Given the description of an element on the screen output the (x, y) to click on. 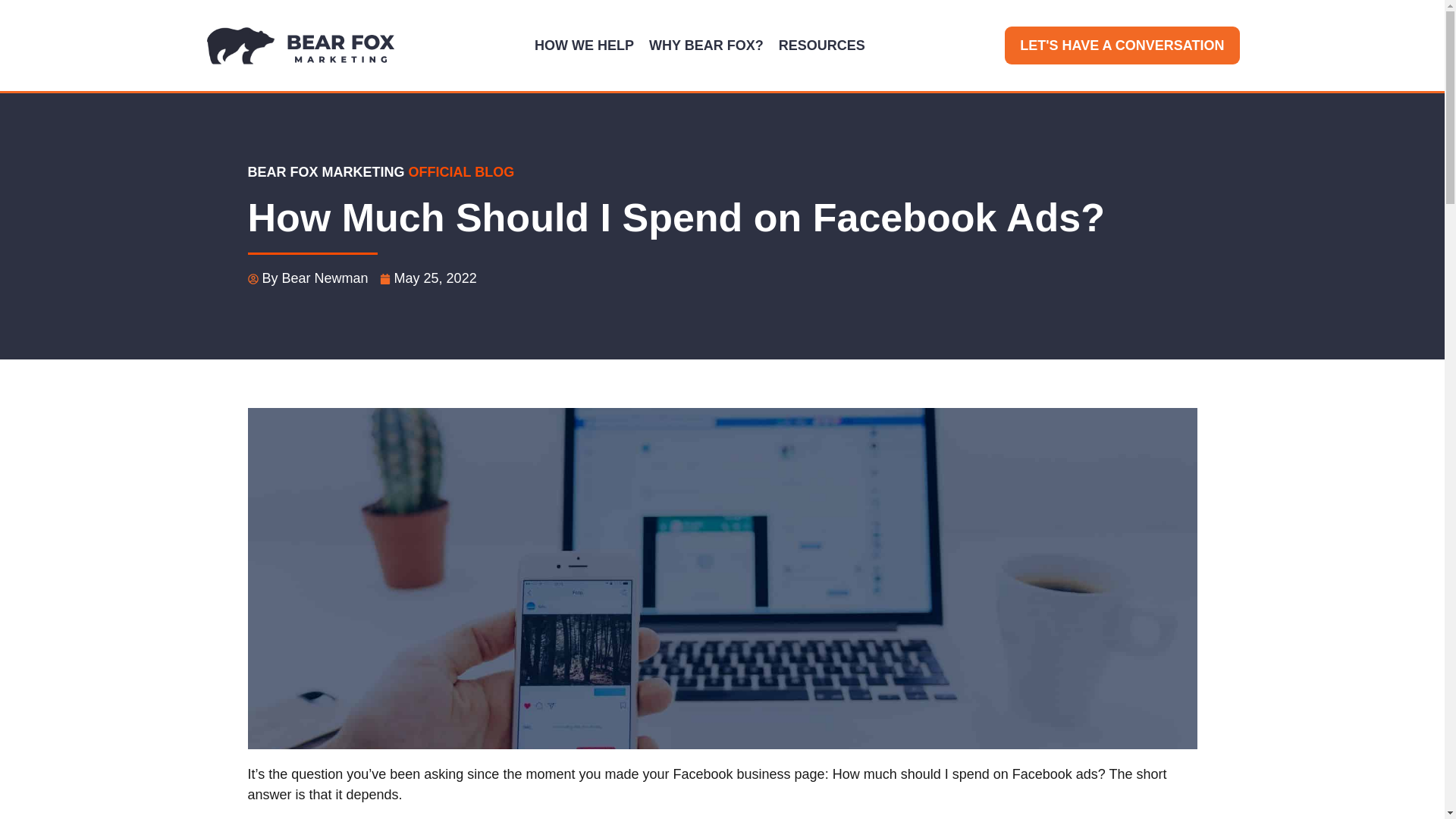
RESOURCES (821, 45)
WHY BEAR FOX? (706, 45)
HOW WE HELP (584, 45)
